Given the description of an element on the screen output the (x, y) to click on. 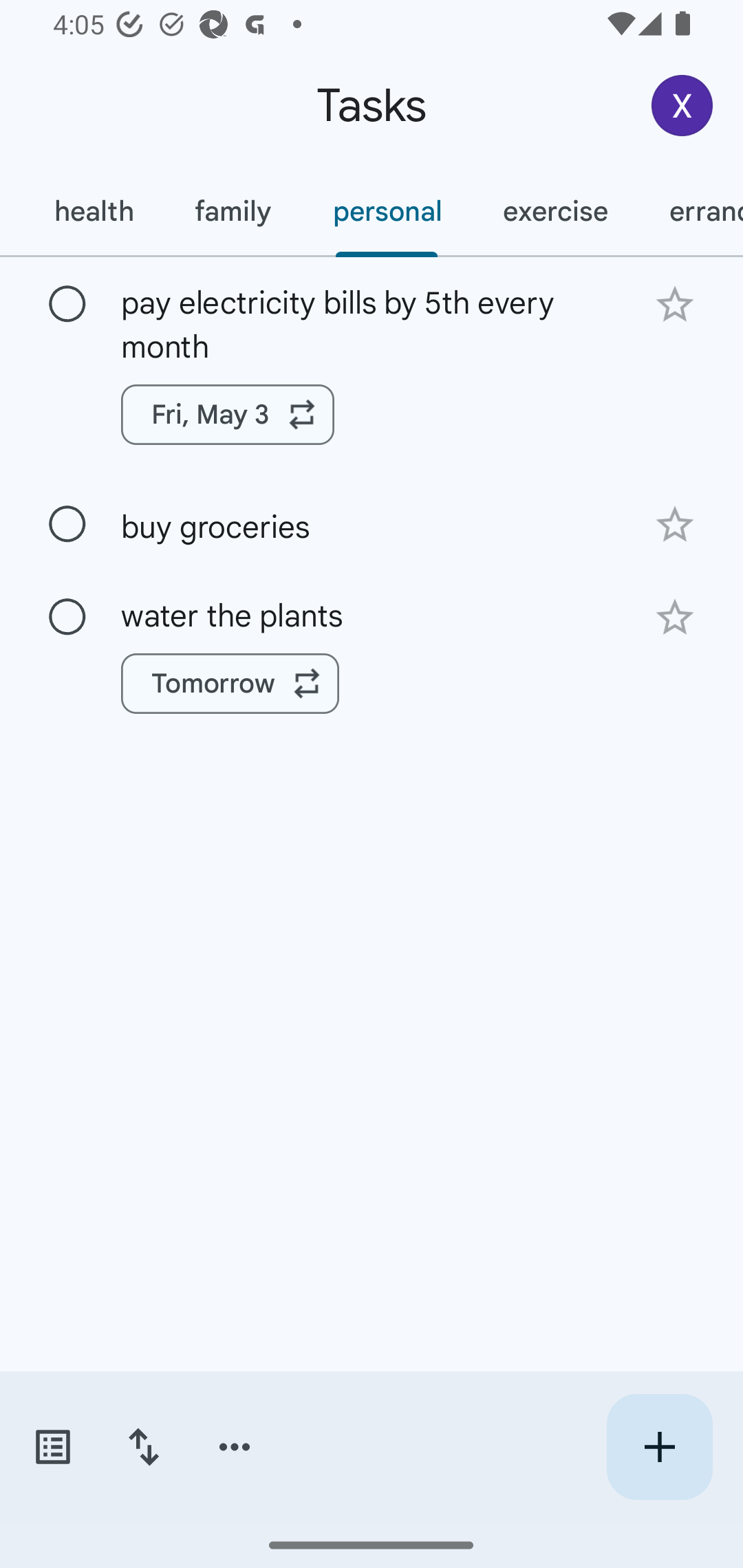
health (93, 211)
family (232, 211)
exercise (554, 211)
errands (690, 211)
Add star (674, 303)
Mark as complete (67, 304)
Fri, May 3 (227, 414)
Add star (674, 524)
Mark as complete (67, 524)
Add star (674, 617)
Mark as complete (67, 616)
Tomorrow (229, 683)
Switch task lists (52, 1447)
Create new task (659, 1446)
Change sort order (143, 1446)
More options (234, 1446)
